Given the description of an element on the screen output the (x, y) to click on. 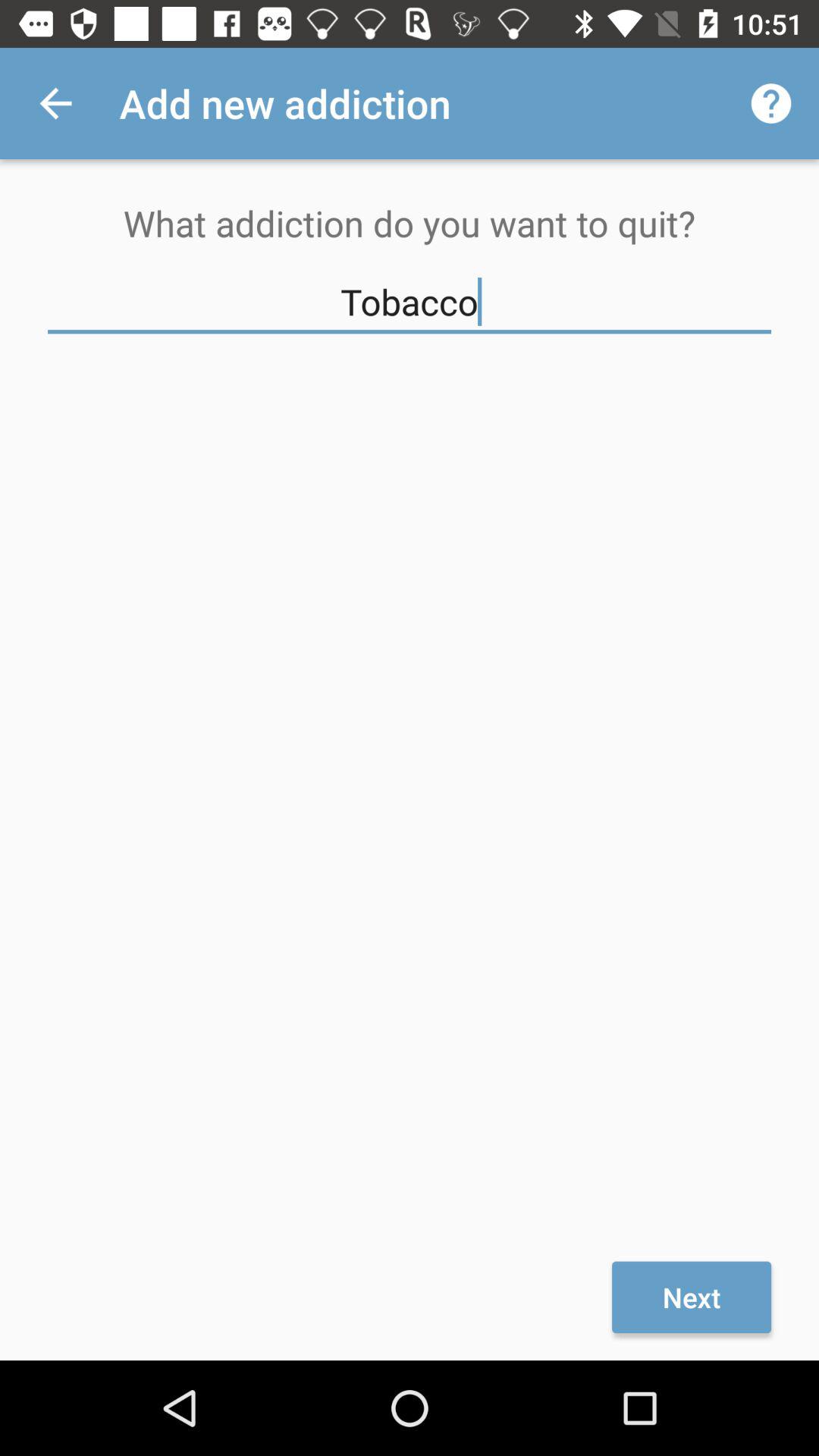
turn on icon to the right of the add new addiction app (771, 103)
